Given the description of an element on the screen output the (x, y) to click on. 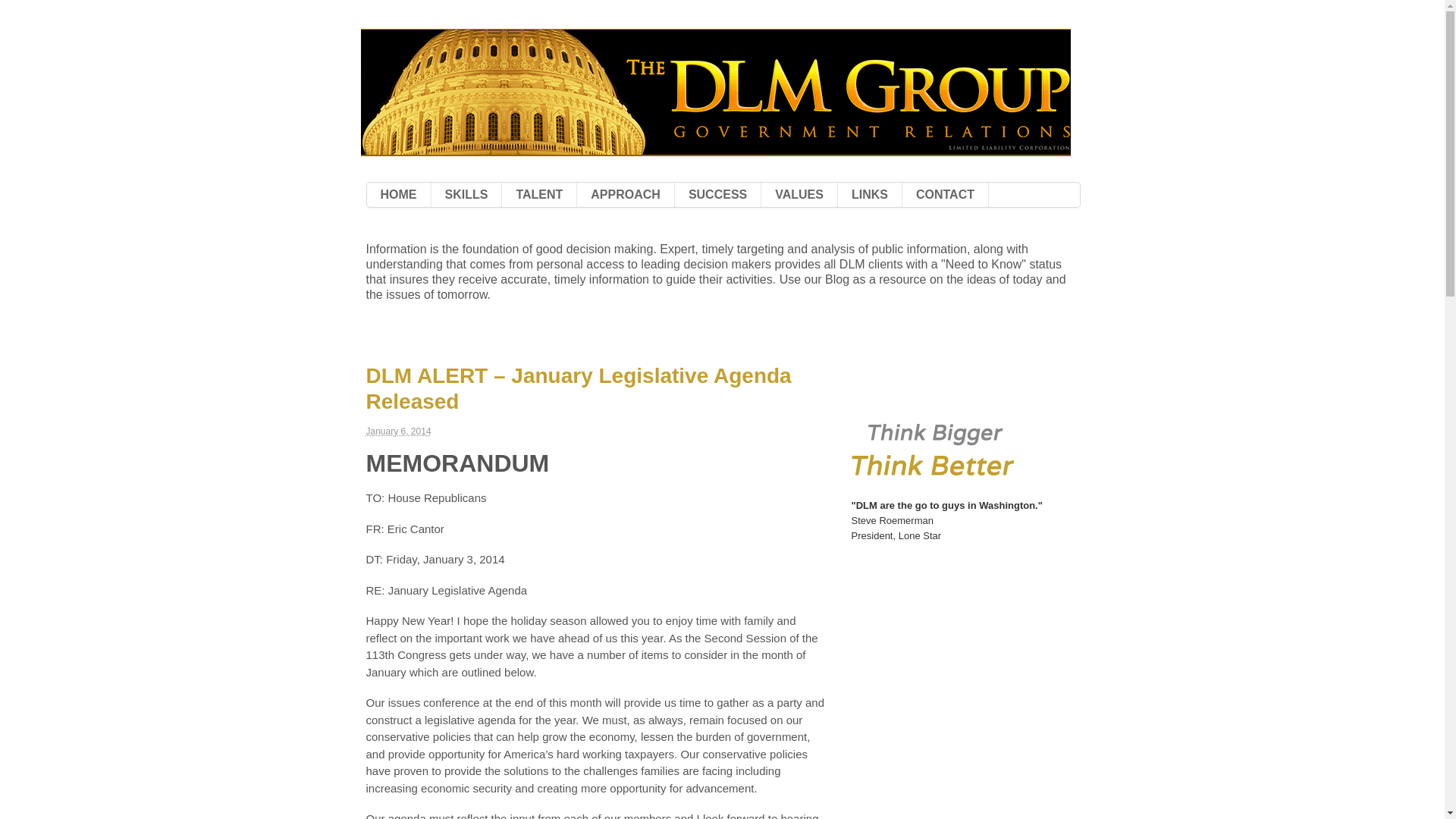
CONTACT (945, 194)
2014-01-06T07:00:20-0600 (397, 430)
SKILLS (465, 194)
APPROACH (625, 194)
TALENT (539, 194)
LINKS (869, 194)
SUCCESS (717, 194)
VALUES (799, 194)
HOME (398, 194)
